Given the description of an element on the screen output the (x, y) to click on. 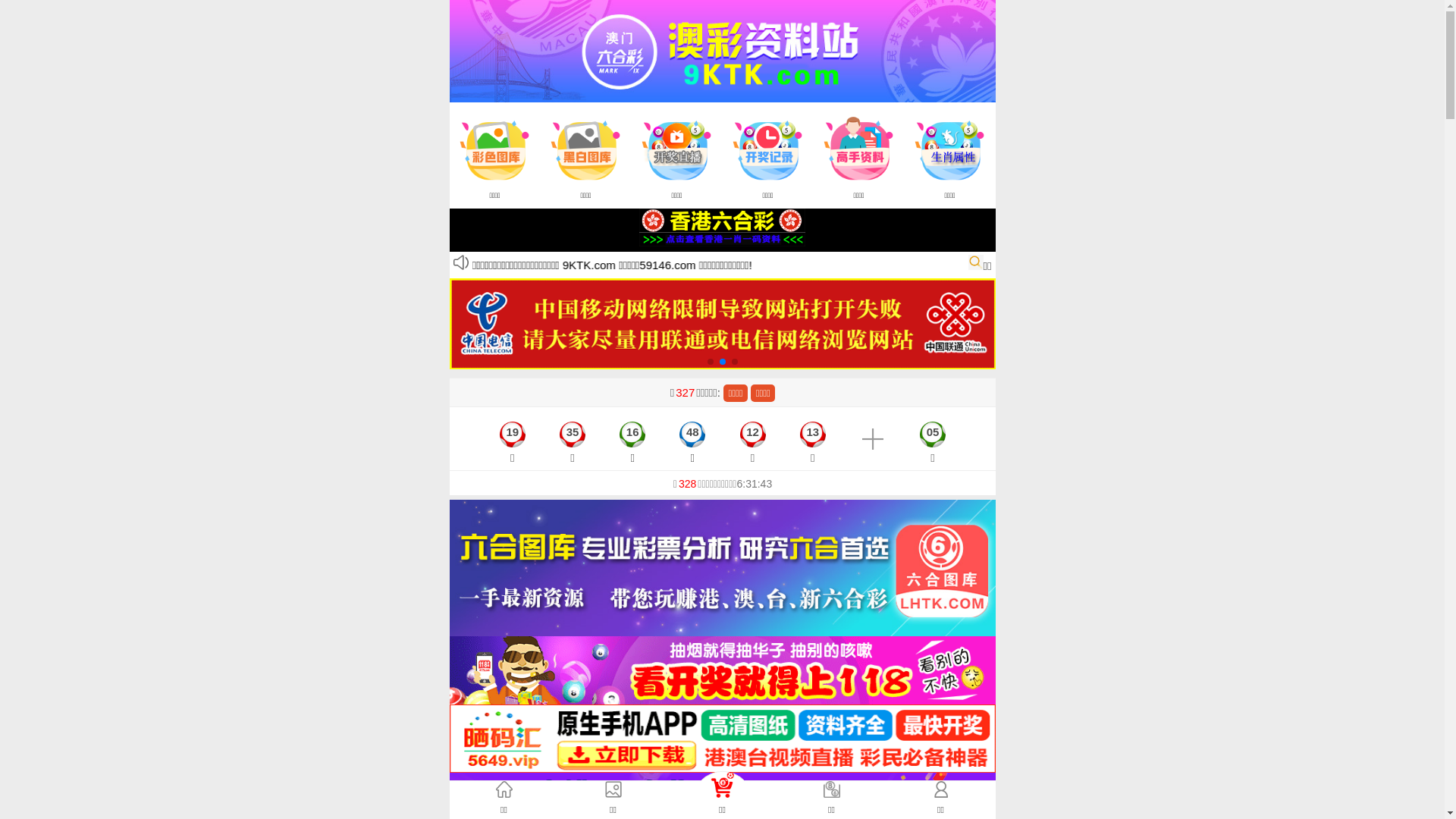
4179 Element type: hover (721, 668)
76116 Element type: hover (721, 805)
5649 Element type: hover (721, 737)
